Given the description of an element on the screen output the (x, y) to click on. 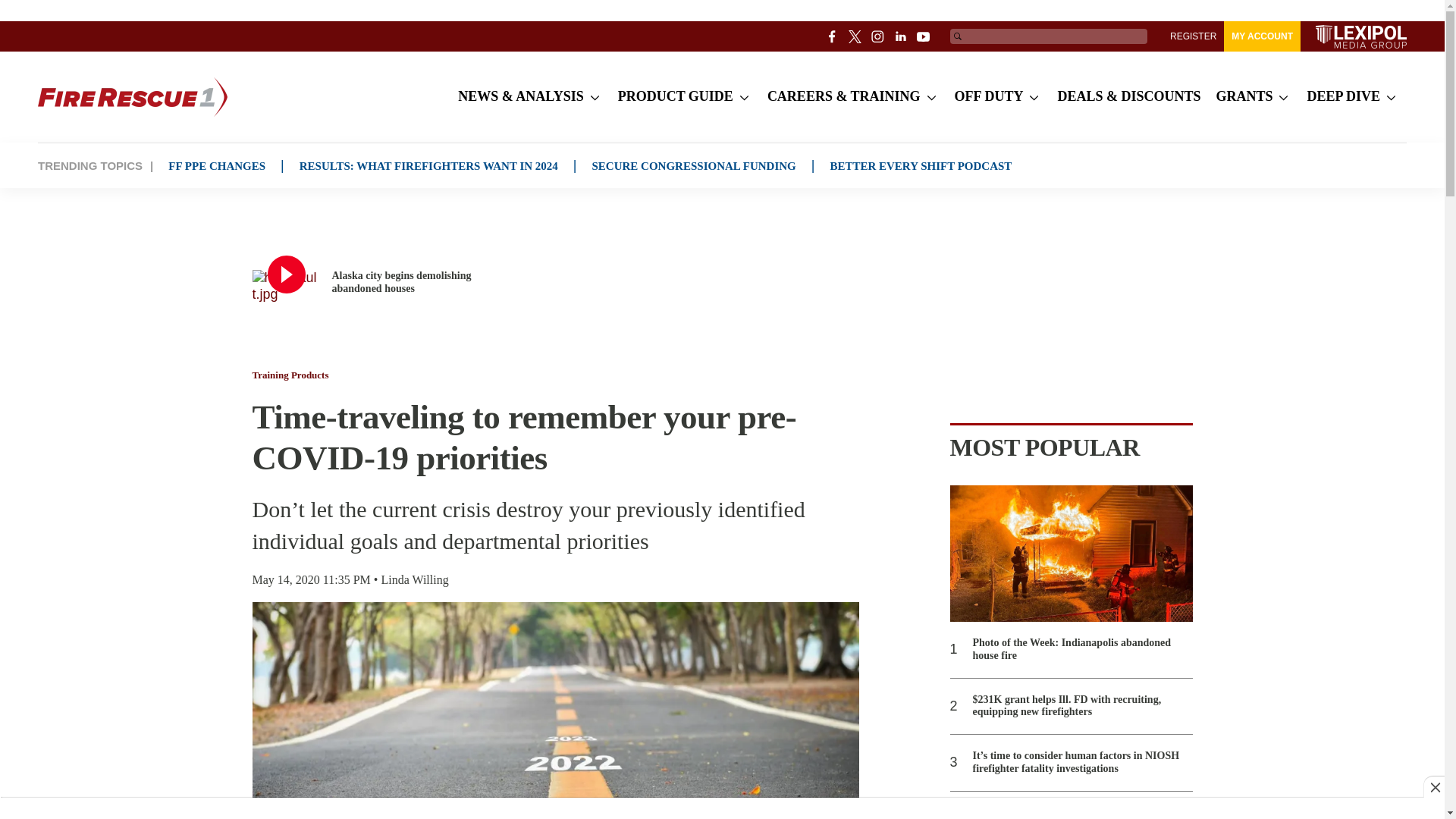
twitter (855, 36)
MY ACCOUNT (1262, 36)
REGISTER (1192, 36)
instagram (877, 36)
facebook (832, 36)
youtube (923, 36)
linkedin (900, 36)
